Given the description of an element on the screen output the (x, y) to click on. 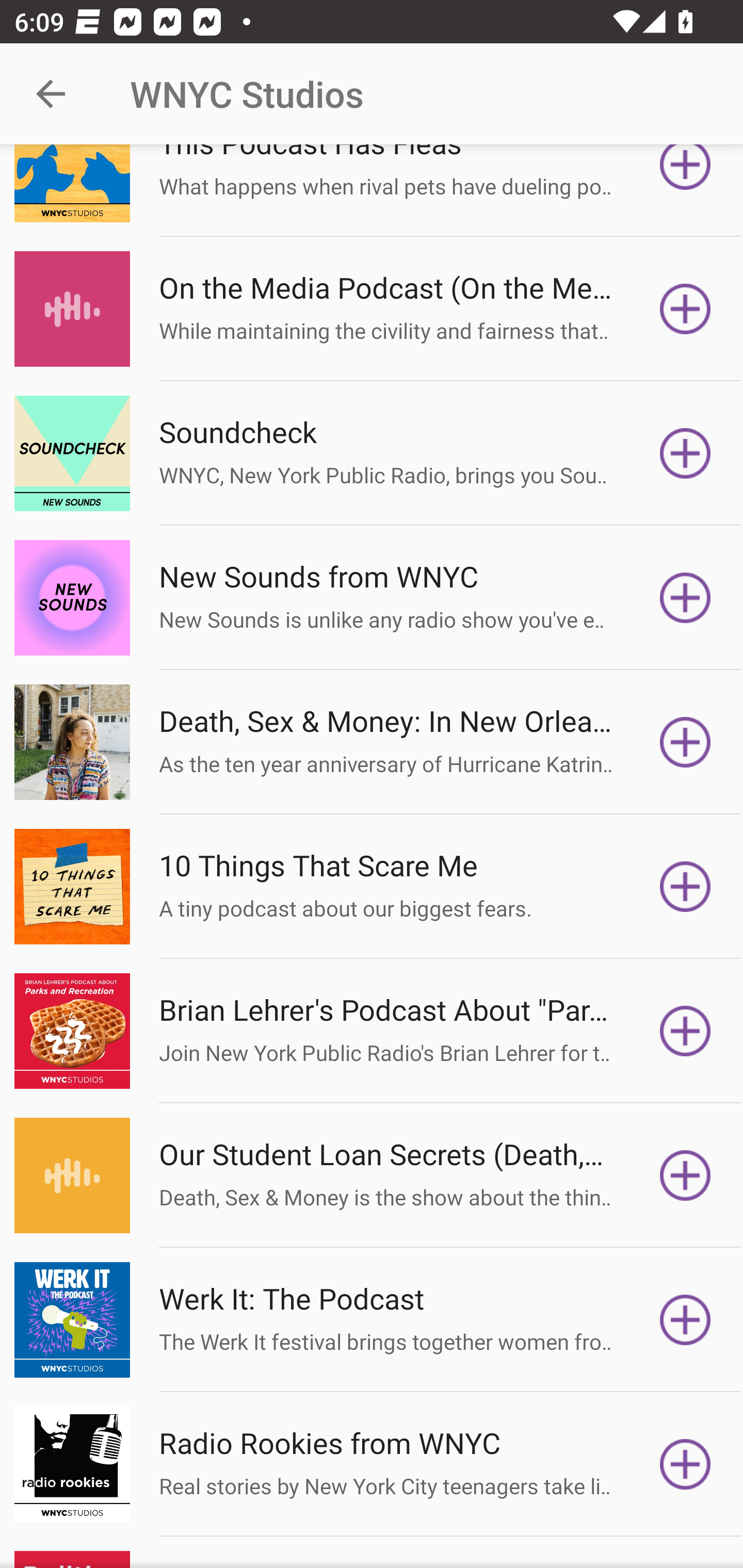
Navigate up (50, 93)
Subscribe (685, 183)
Subscribe (685, 308)
Subscribe (685, 453)
Subscribe (685, 597)
Subscribe (685, 742)
Subscribe (685, 886)
Subscribe (685, 1030)
Subscribe (685, 1175)
Subscribe (685, 1320)
Subscribe (685, 1464)
